Given the description of an element on the screen output the (x, y) to click on. 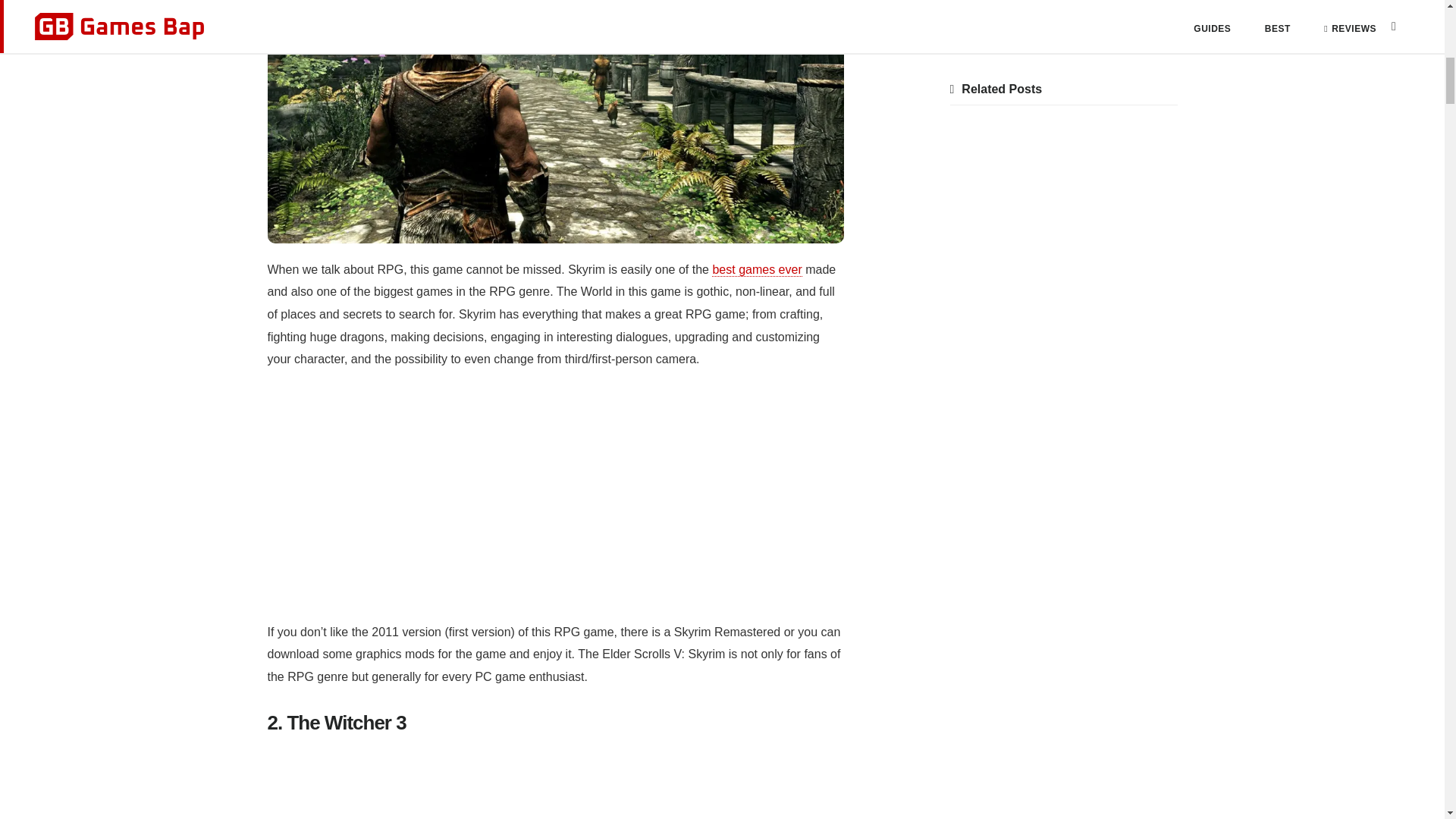
best games ever (756, 269)
